Given the description of an element on the screen output the (x, y) to click on. 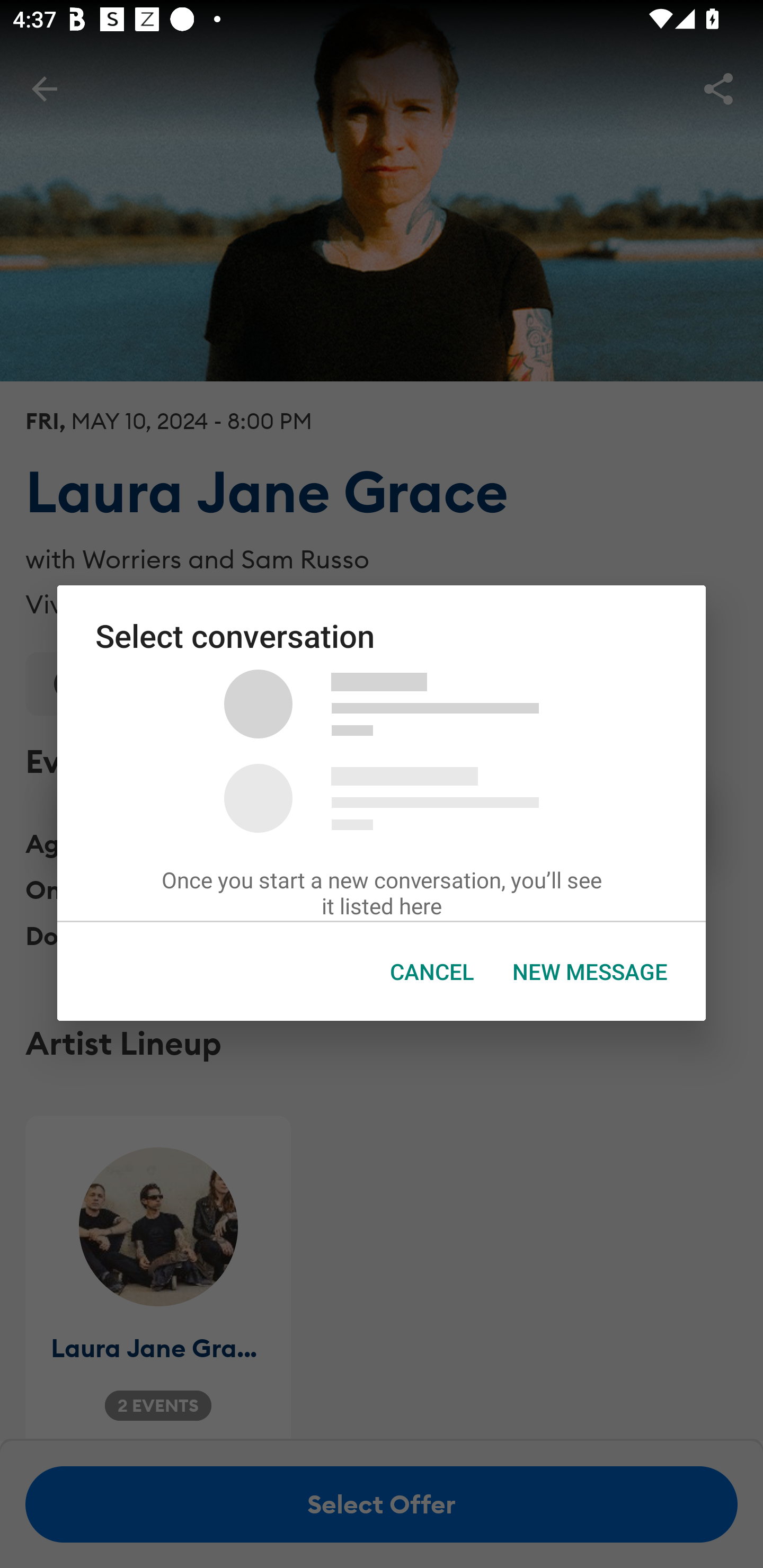
CANCEL (431, 971)
NEW MESSAGE (589, 971)
